Given the description of an element on the screen output the (x, y) to click on. 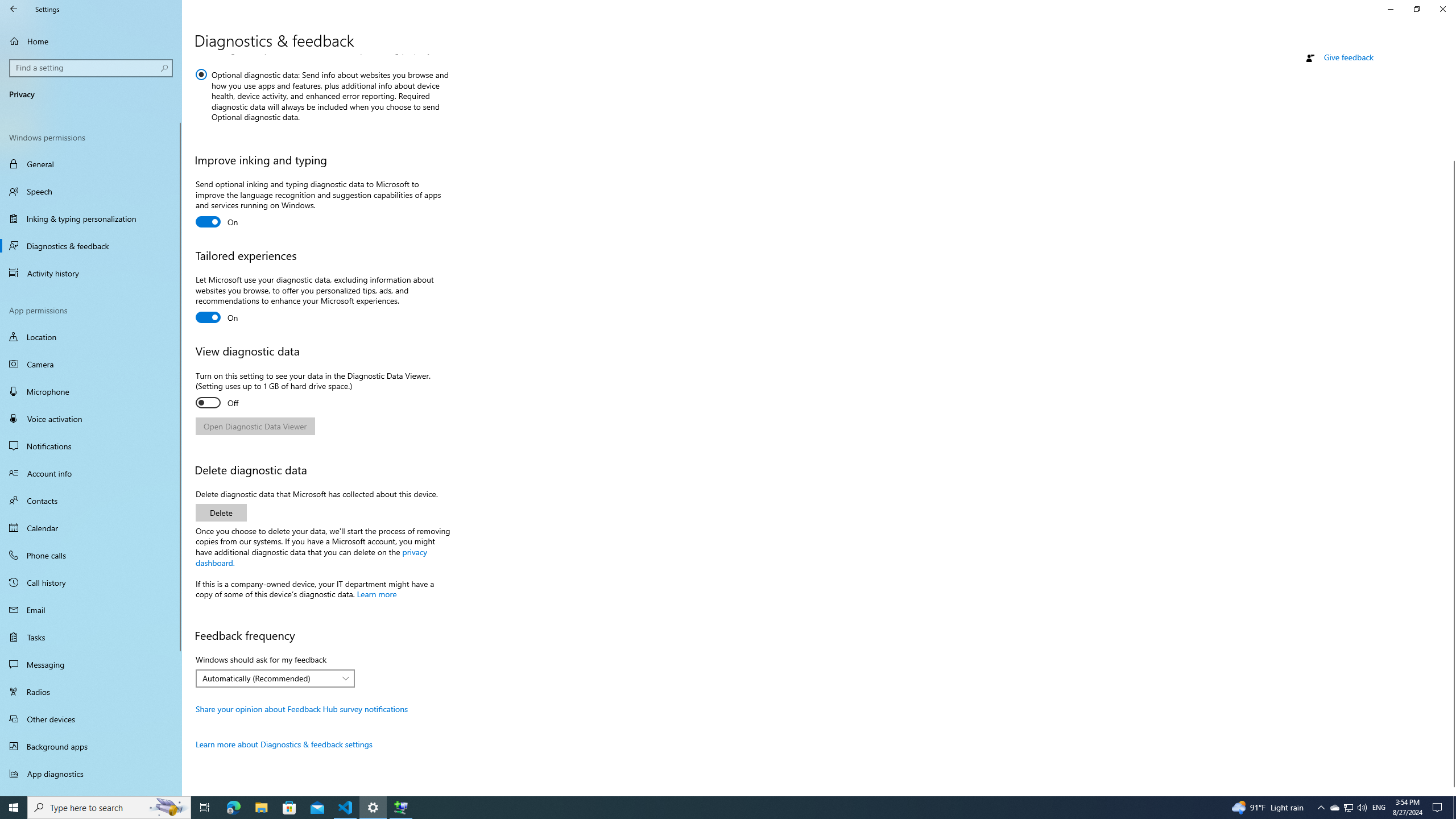
General (91, 163)
Microphone (91, 390)
Automatic file downloads (91, 791)
privacy dashboard. (312, 556)
Search box, Find a setting (91, 67)
Calendar (91, 527)
Tray Input Indicator - English (United States) (1378, 807)
